Given the description of an element on the screen output the (x, y) to click on. 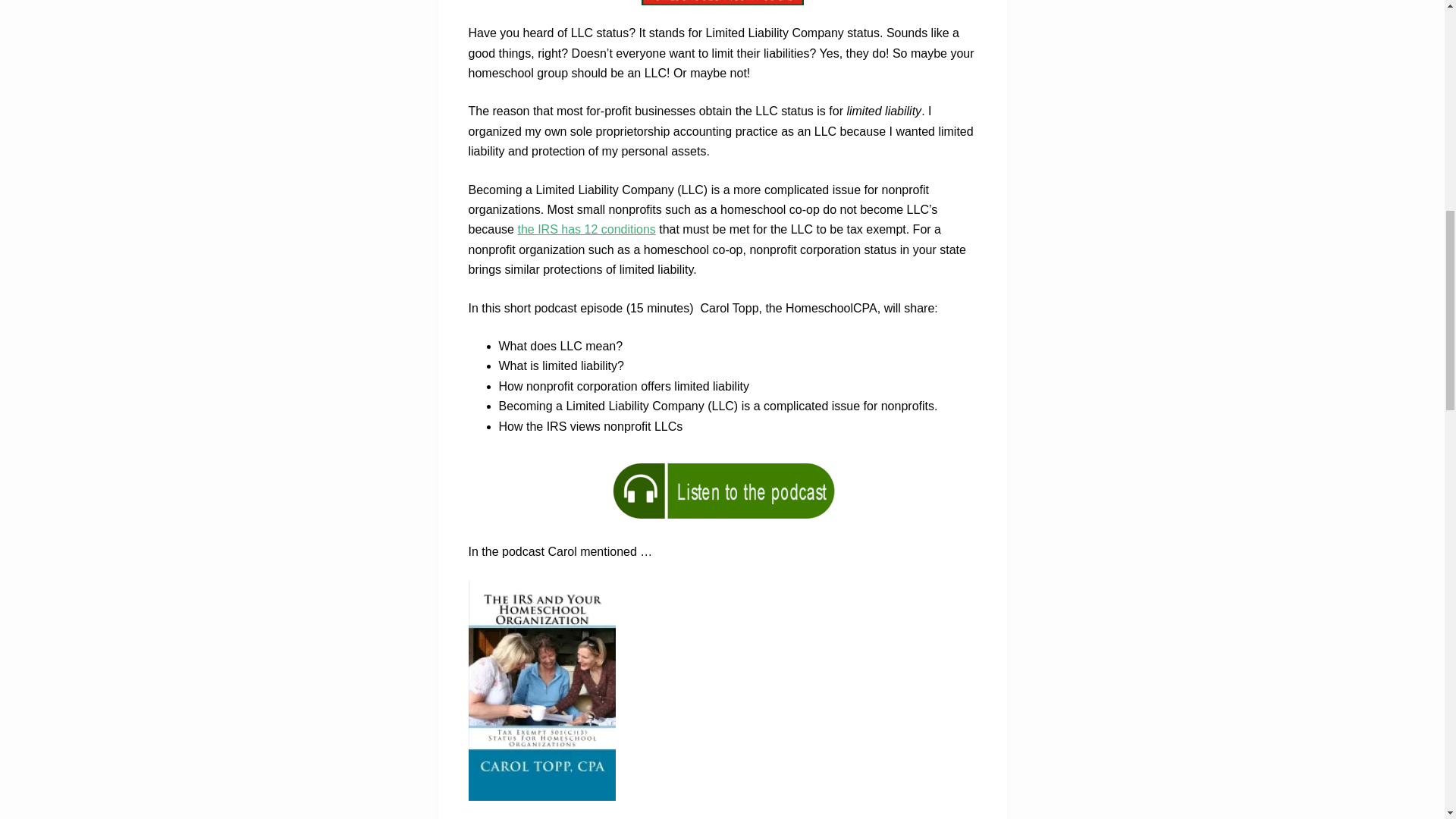
the IRS has 12 conditions (585, 228)
